Given the description of an element on the screen output the (x, y) to click on. 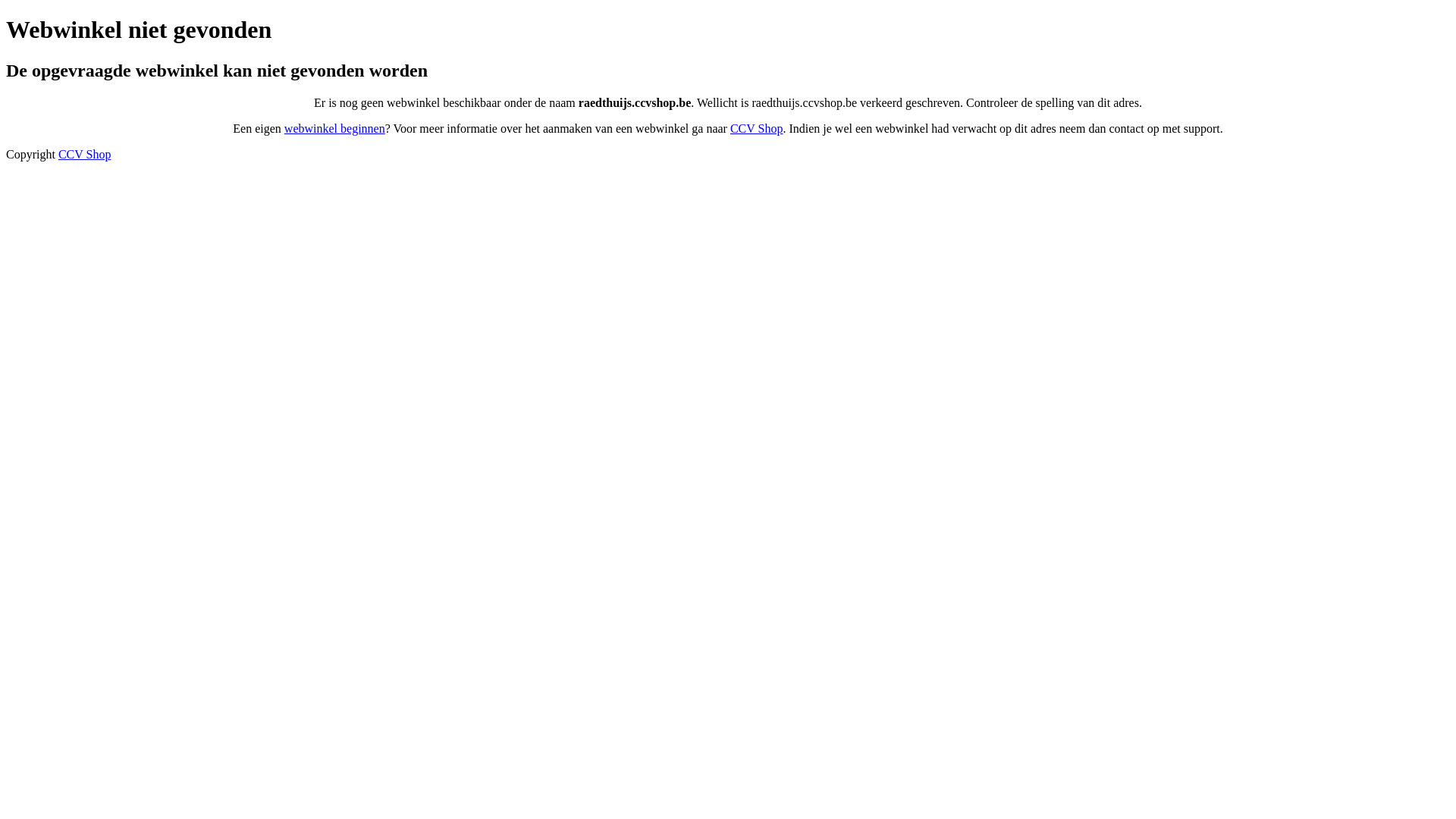
CCV Shop Element type: text (756, 128)
webwinkel beginnen Element type: text (334, 128)
CCV Shop Element type: text (84, 153)
